Given the description of an element on the screen output the (x, y) to click on. 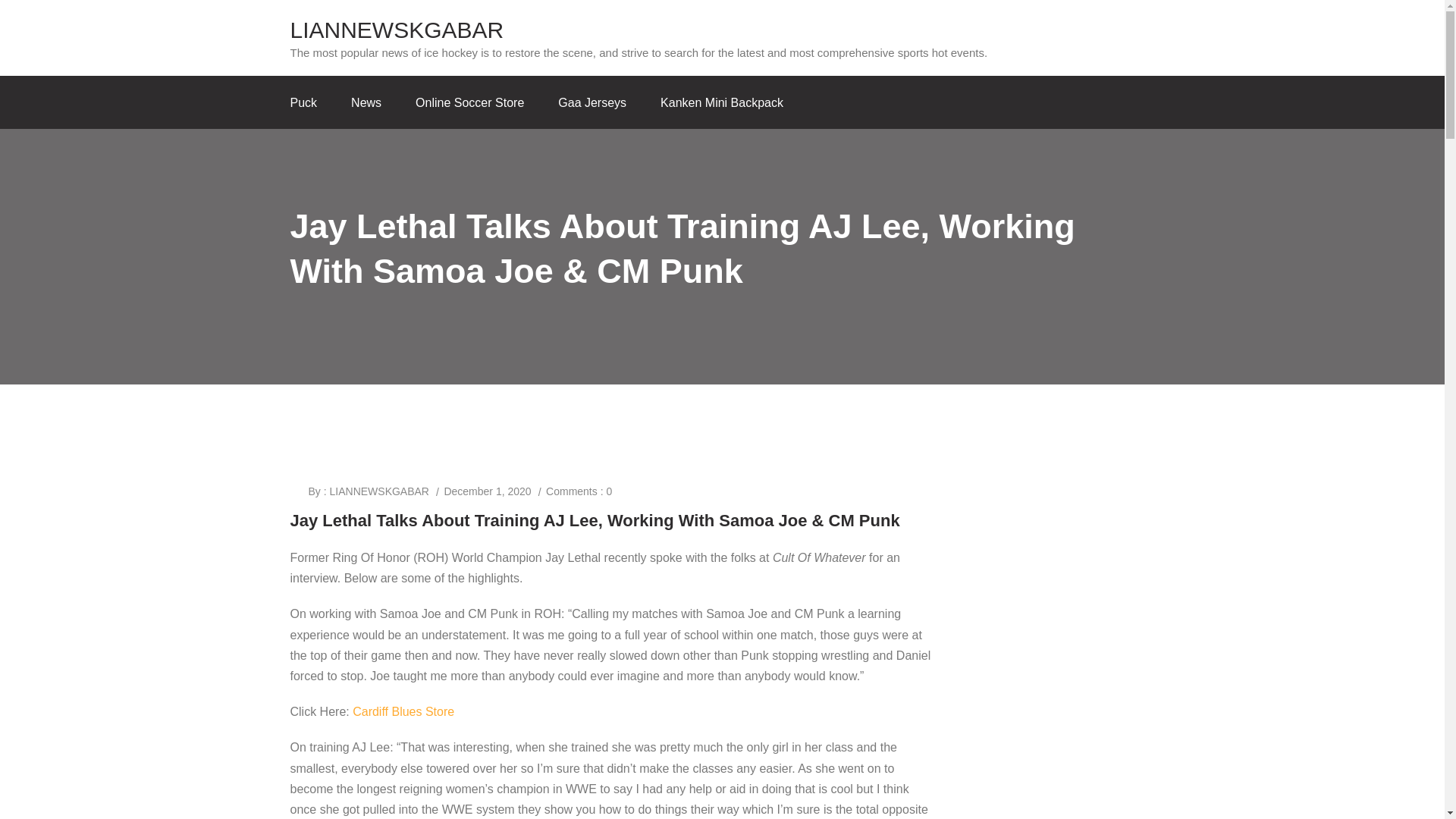
Cardiff Blues Store (403, 711)
gaa jerseys (591, 103)
online soccer store (469, 103)
Online Soccer Store (469, 103)
Kanken Mini Backpack (722, 103)
Cardiff Blues Store (403, 711)
By : LIANNEWSKGABAR (367, 491)
Gaa Jerseys (591, 103)
LIANNEWSKGABAR (638, 36)
Kanken Mini Backpack (722, 103)
